Given the description of an element on the screen output the (x, y) to click on. 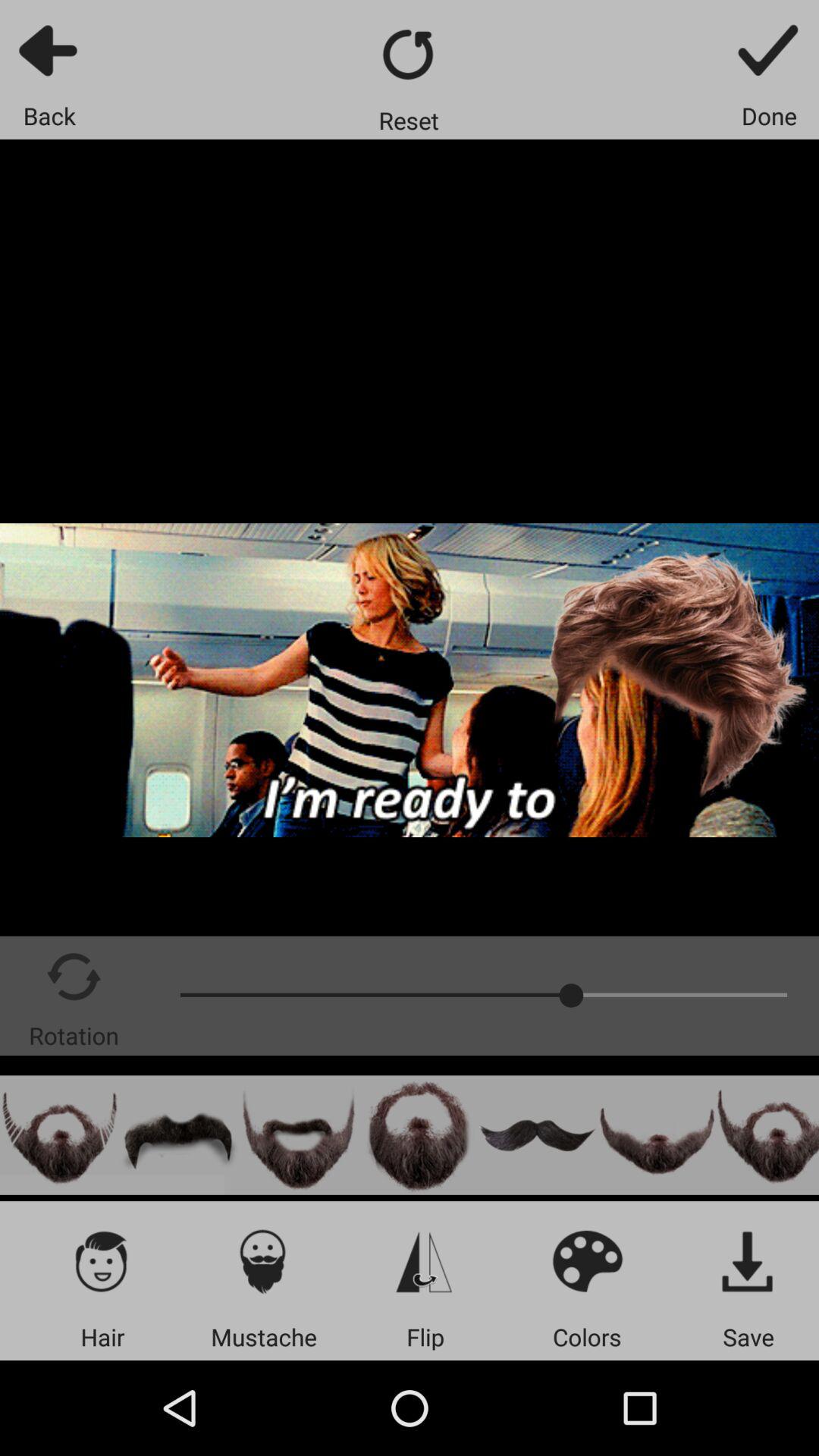
color tab (586, 1260)
